Given the description of an element on the screen output the (x, y) to click on. 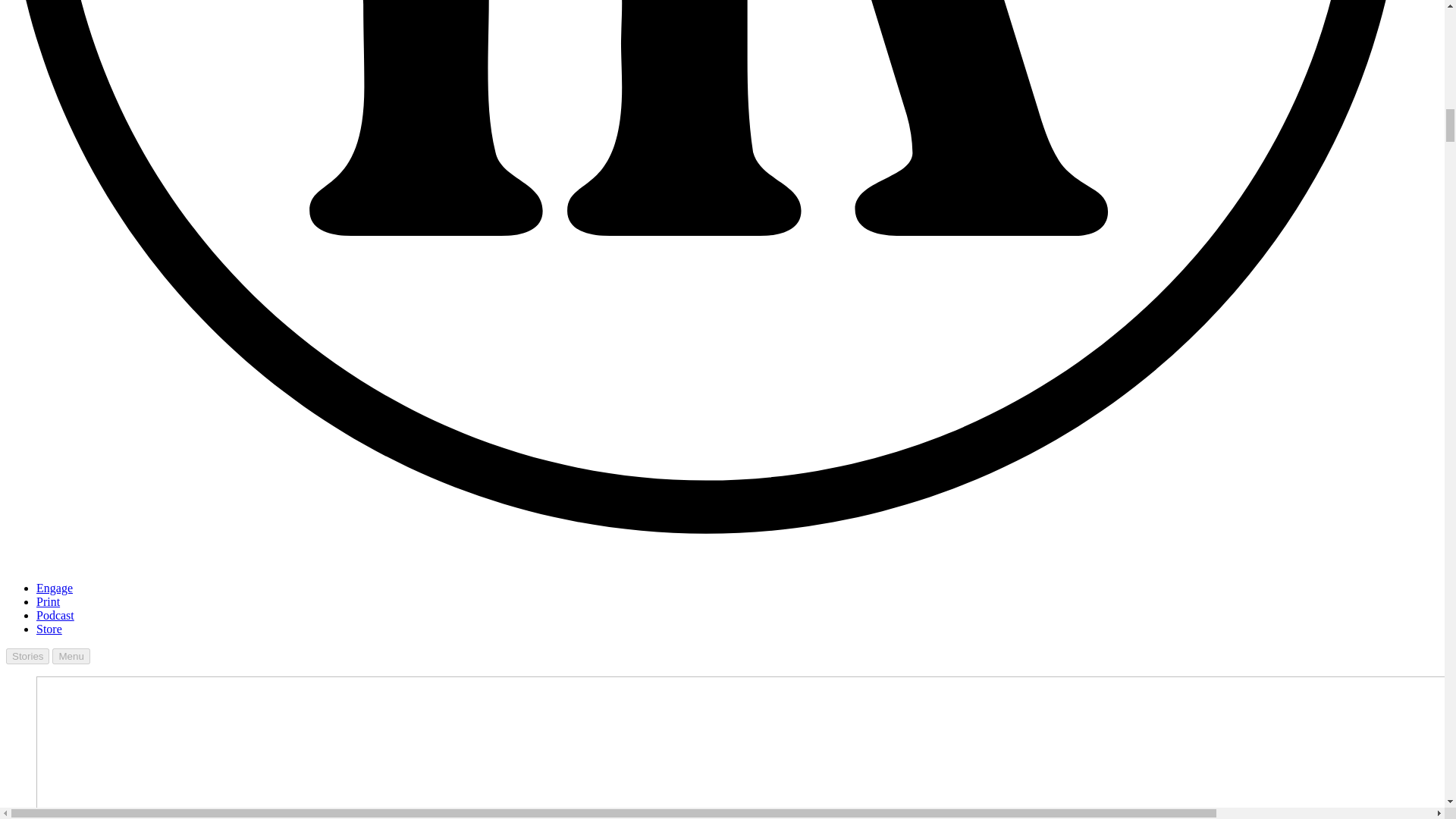
Stories (27, 656)
Store (49, 628)
Menu (70, 656)
Podcast (55, 615)
Print (47, 601)
Engage (54, 587)
